Given the description of an element on the screen output the (x, y) to click on. 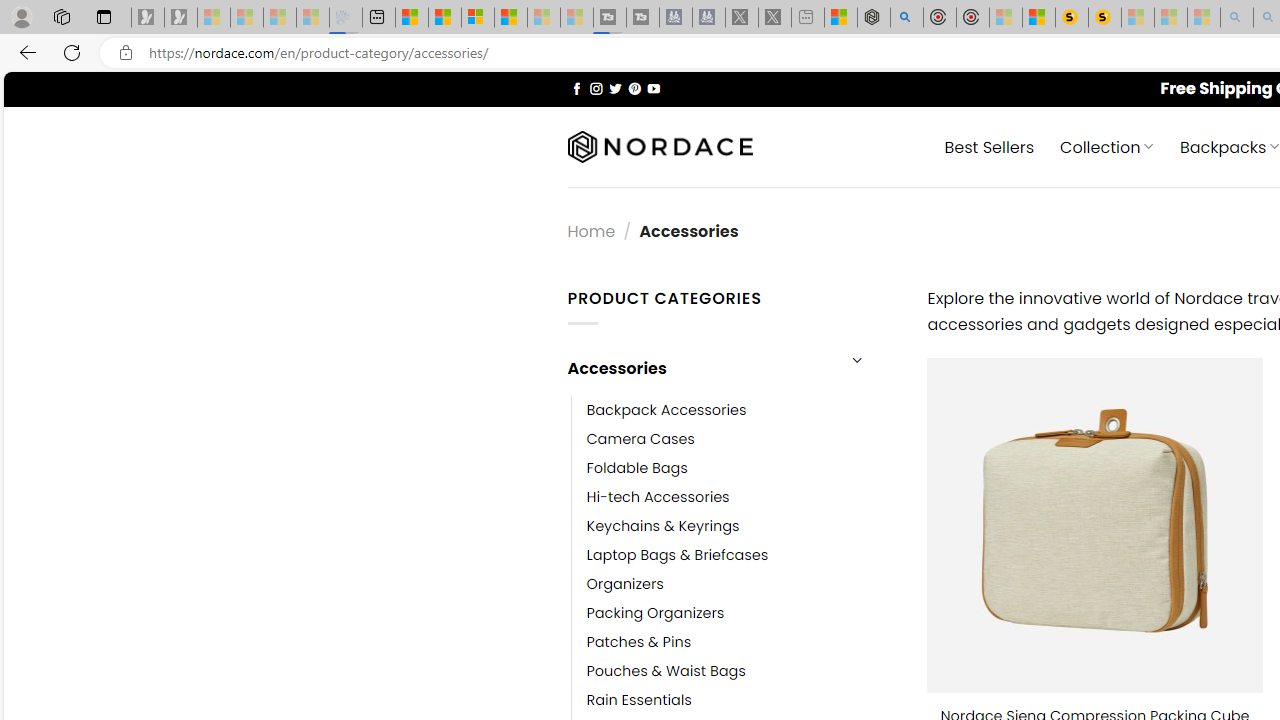
Rain Essentials (639, 700)
poe - Search (906, 17)
Backpack Accessories (742, 409)
Keychains & Keyrings (742, 526)
Newsletter Sign Up - Sleeping (181, 17)
Rain Essentials (742, 700)
Home (591, 230)
Follow on Twitter (615, 88)
